Given the description of an element on the screen output the (x, y) to click on. 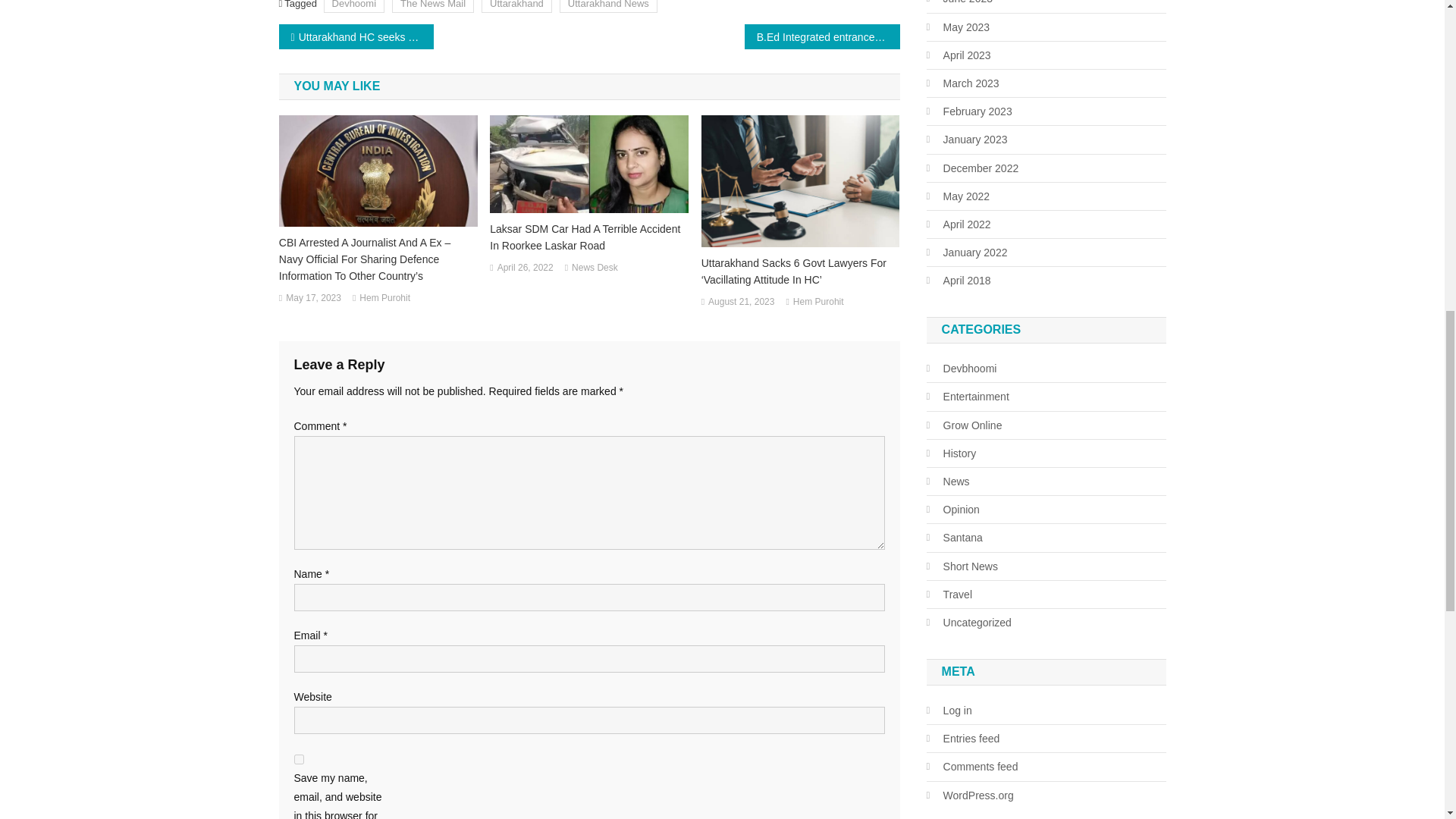
April 26, 2022 (525, 268)
Hem Purohit (384, 298)
Hem Purohit (818, 302)
The News Mail (432, 6)
May 17, 2023 (312, 298)
Devhoomi (354, 6)
News Desk (594, 268)
Uttarakhand HC seeks govt reply on damaged bridges (356, 36)
